Given the description of an element on the screen output the (x, y) to click on. 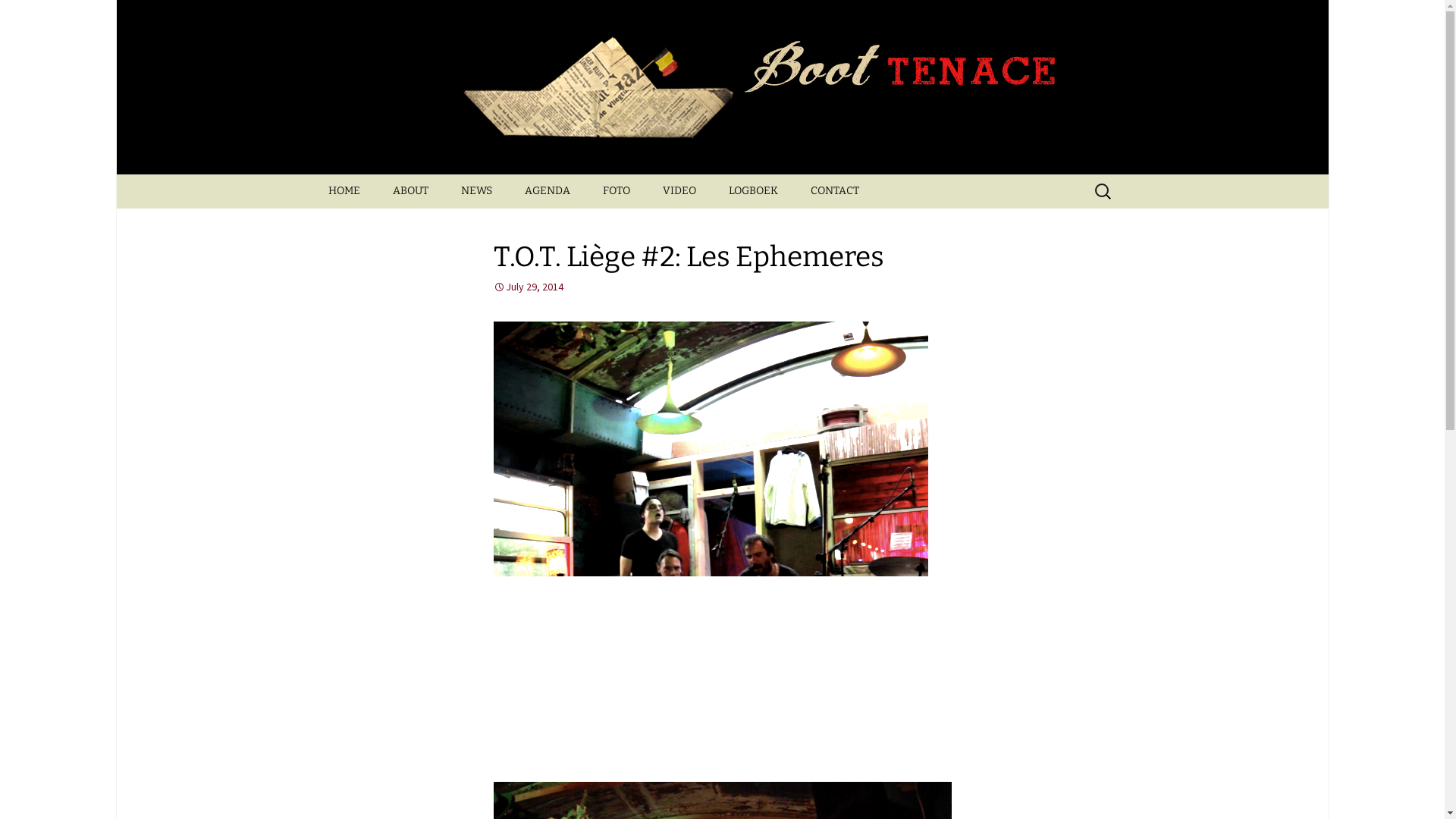
ABOUT Element type: text (410, 190)
HOME Element type: text (343, 190)
July 29, 2014 Element type: text (527, 286)
(FR) Element type: text (453, 224)
CONTACT Element type: text (833, 190)
NEWS Element type: text (476, 190)
Search Element type: text (18, 15)
AGENDA Element type: text (547, 190)
Skip to content Element type: text (312, 173)
LOGBOEK Element type: text (752, 190)
VIDEO Element type: text (679, 190)
FOTO Element type: text (615, 190)
